Given the description of an element on the screen output the (x, y) to click on. 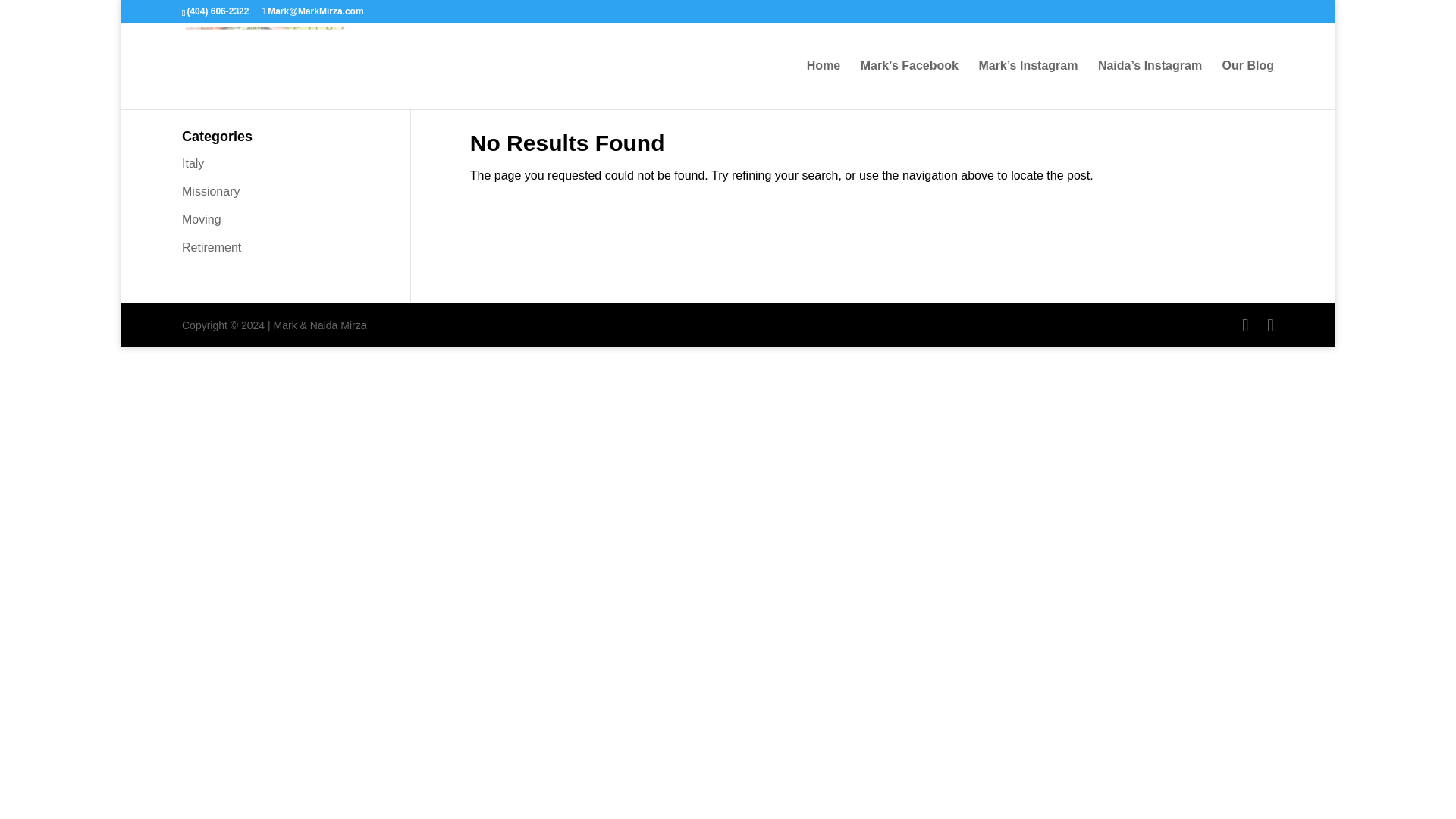
Missionary (211, 191)
Italy (192, 163)
Moving (201, 219)
Our Blog (1248, 84)
Retirement (211, 246)
